Given the description of an element on the screen output the (x, y) to click on. 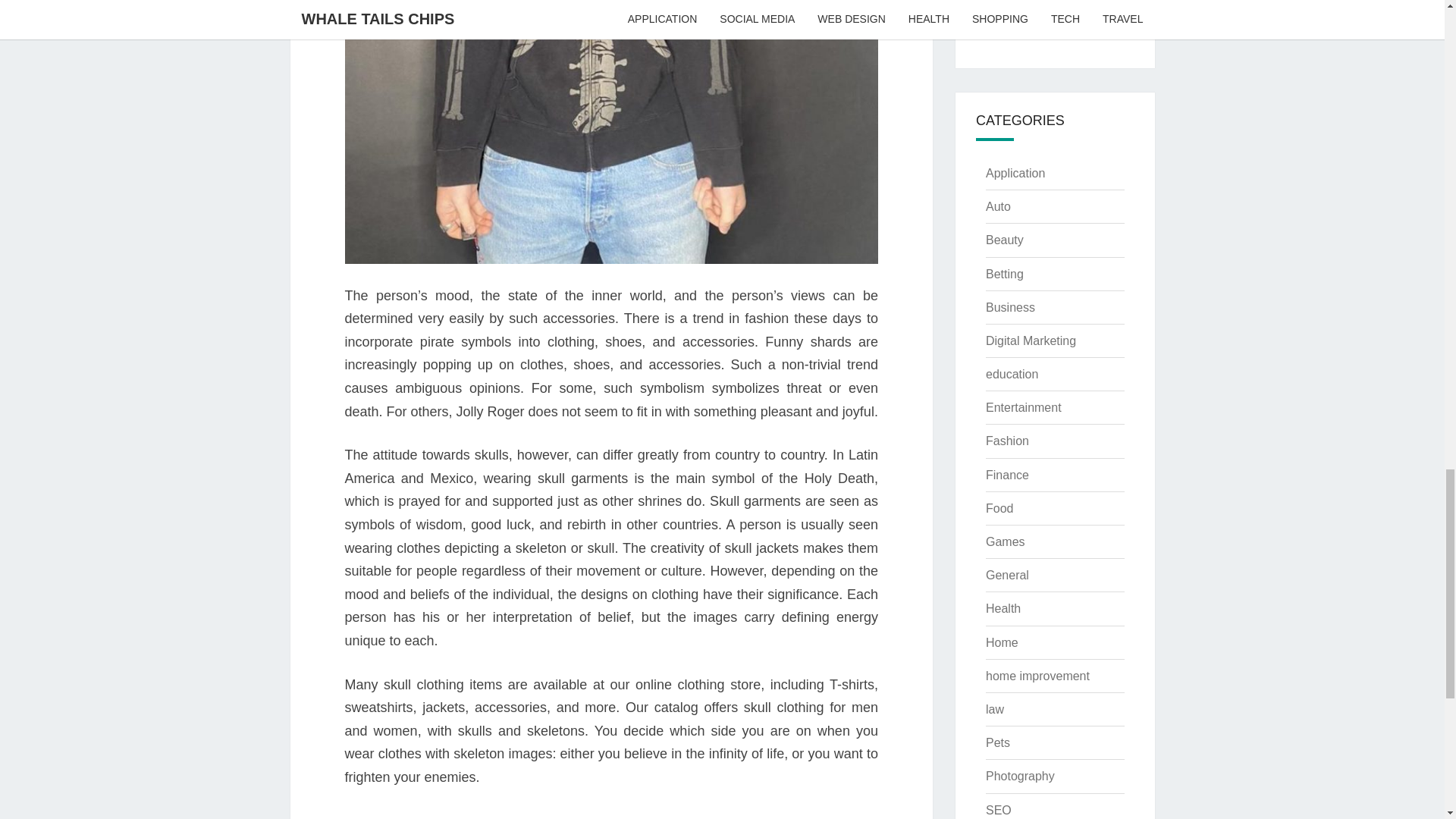
General (1007, 574)
Fashion (1007, 440)
Business (1010, 307)
home improvement (1037, 675)
Games (1005, 541)
Auto (997, 205)
Food (999, 508)
Health (1002, 608)
law (994, 708)
Entertainment (1023, 407)
Finance (1007, 474)
Digital Marketing (1030, 340)
Pets (997, 742)
Application (1015, 173)
Betting (1004, 273)
